Given the description of an element on the screen output the (x, y) to click on. 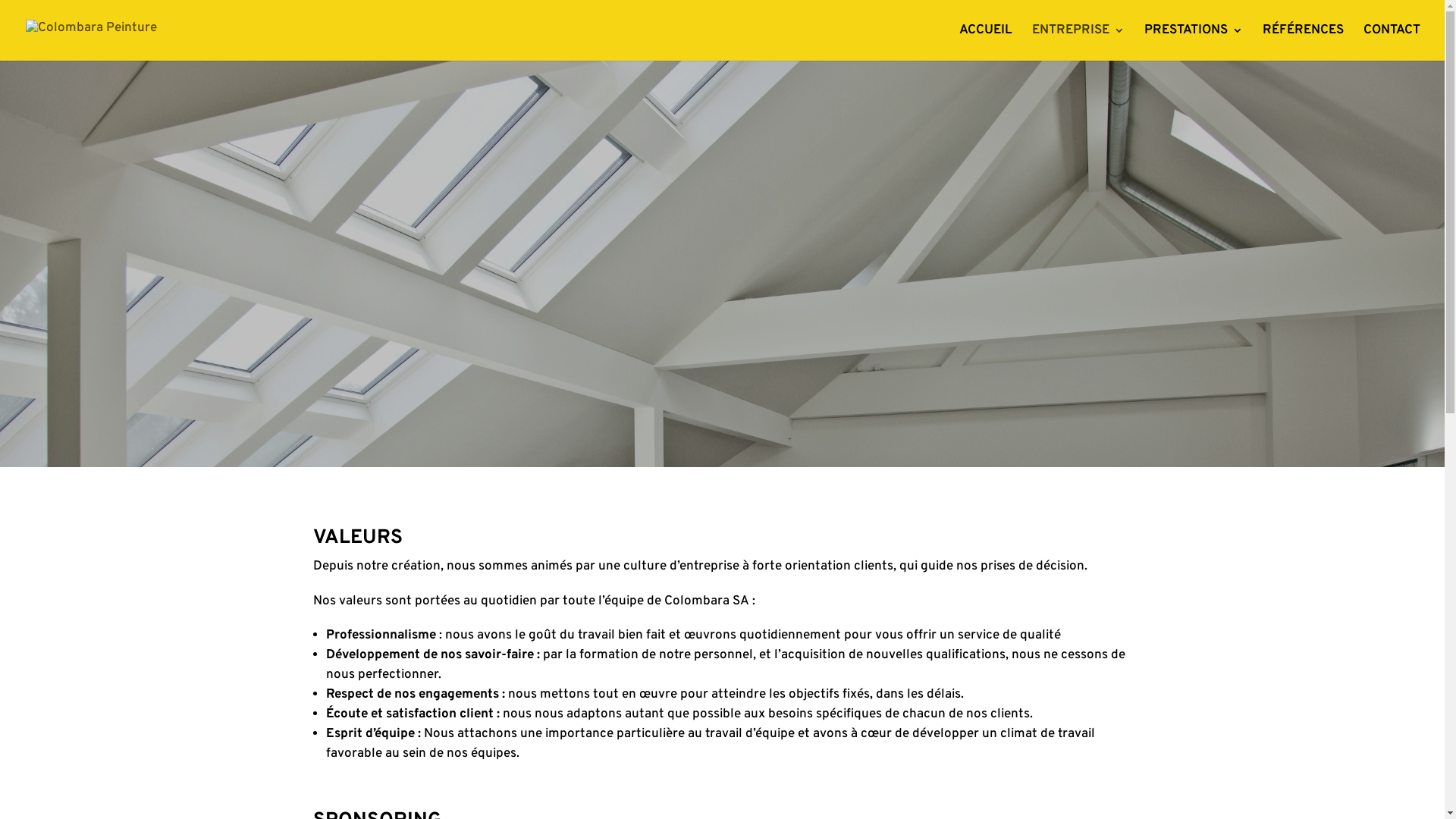
ACCUEIL Element type: text (985, 42)
ENTREPRISE Element type: text (1078, 42)
PRESTATIONS Element type: text (1193, 42)
CONTACT Element type: text (1391, 42)
